Given the description of an element on the screen output the (x, y) to click on. 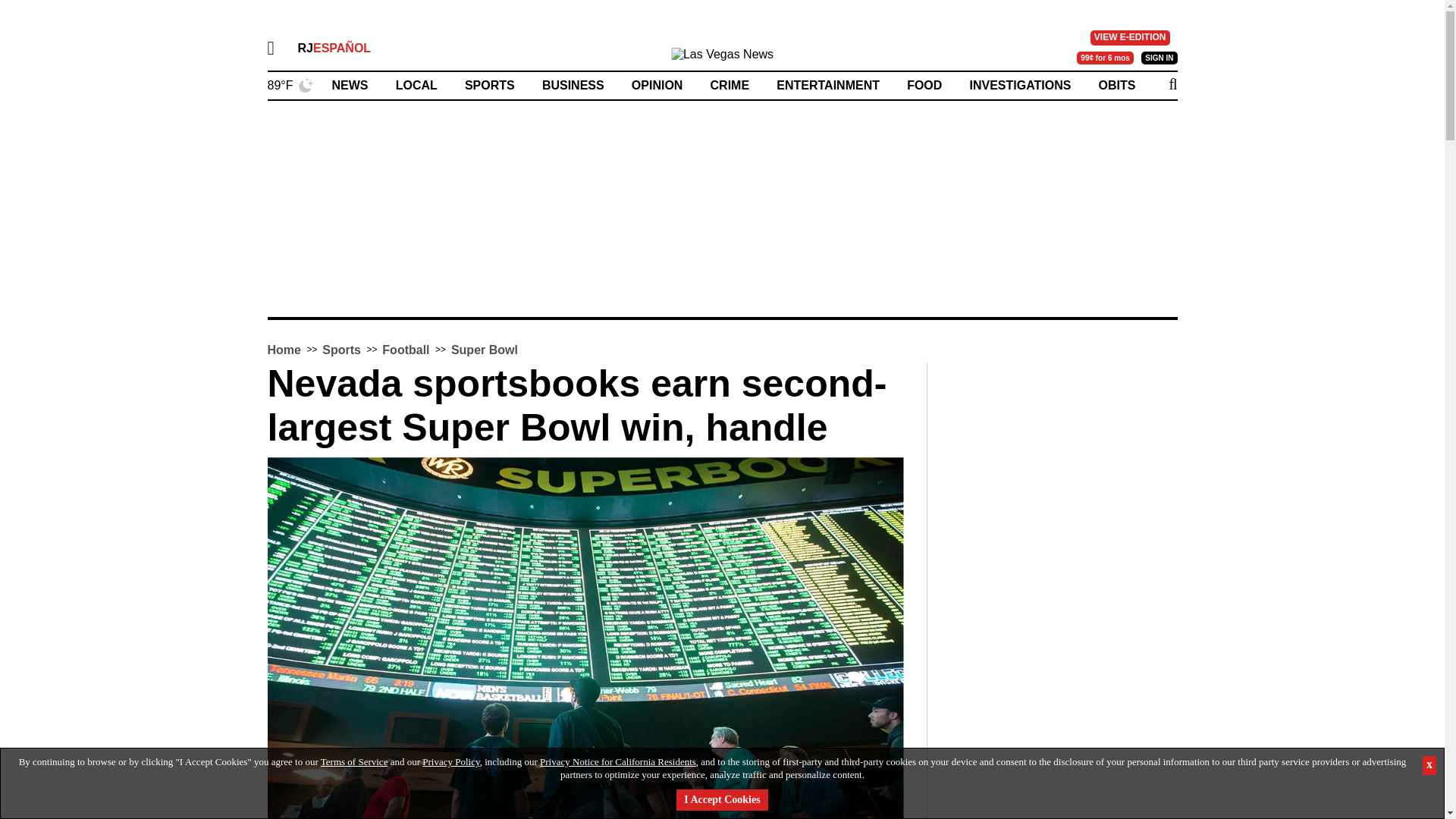
SIGN IN (1158, 58)
INVESTIGATIONS (1019, 84)
BUSINESS (572, 84)
VIEW E-EDITION (1130, 37)
CRIME (729, 84)
OPINION (656, 84)
OBITS (1117, 84)
Las Vegas News (722, 58)
NEWS (349, 84)
ENTERTAINMENT (827, 84)
